Given the description of an element on the screen output the (x, y) to click on. 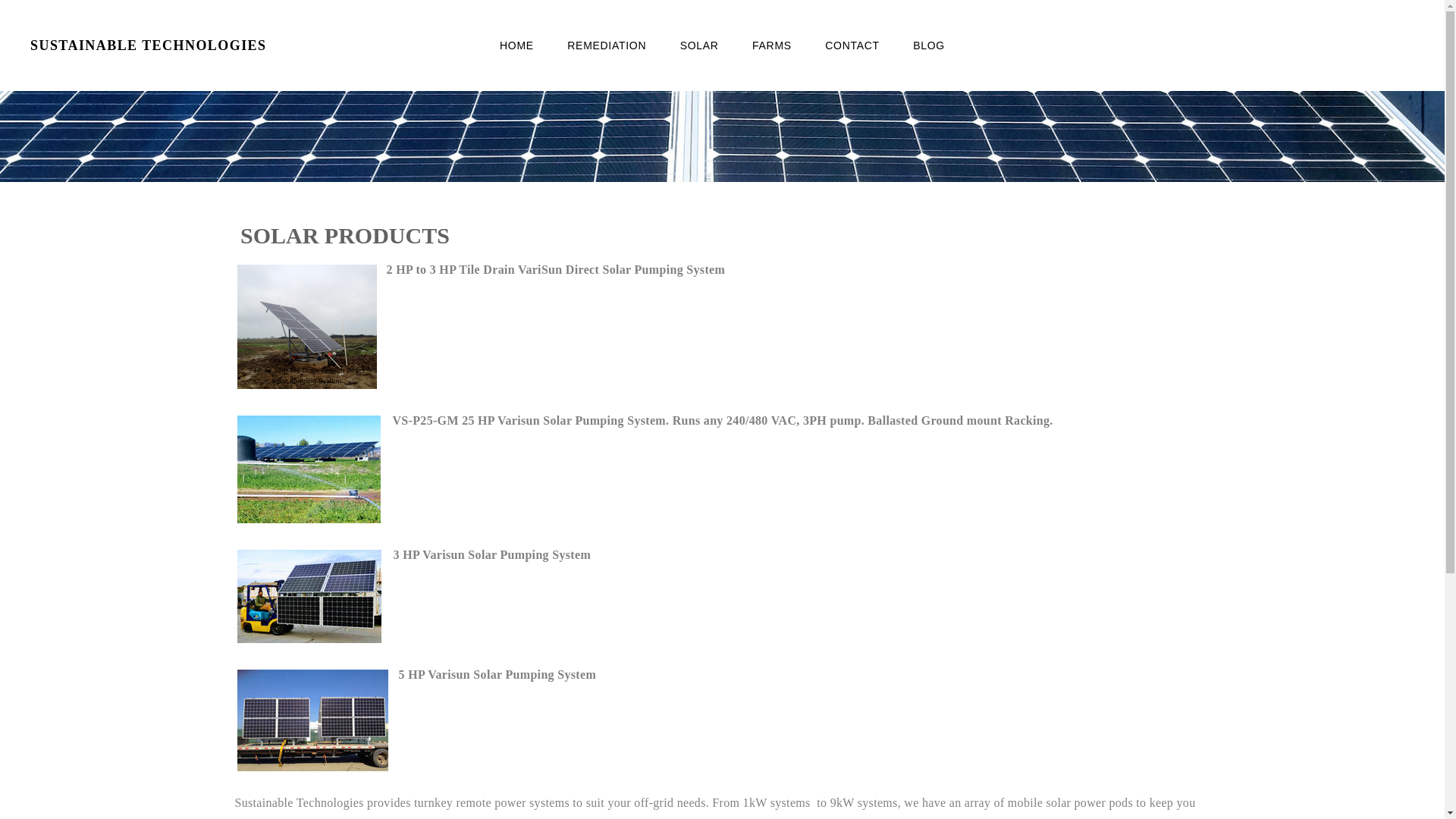
HOME Element type: text (516, 45)
BLOG Element type: text (928, 45)
CONTACT Element type: text (851, 45)
SOLAR Element type: text (699, 45)
SUSTAINABLE TECHNOLOGIES Element type: text (191, 45)
FARMS Element type: text (771, 45)
REMEDIATION Element type: text (606, 45)
